Given the description of an element on the screen output the (x, y) to click on. 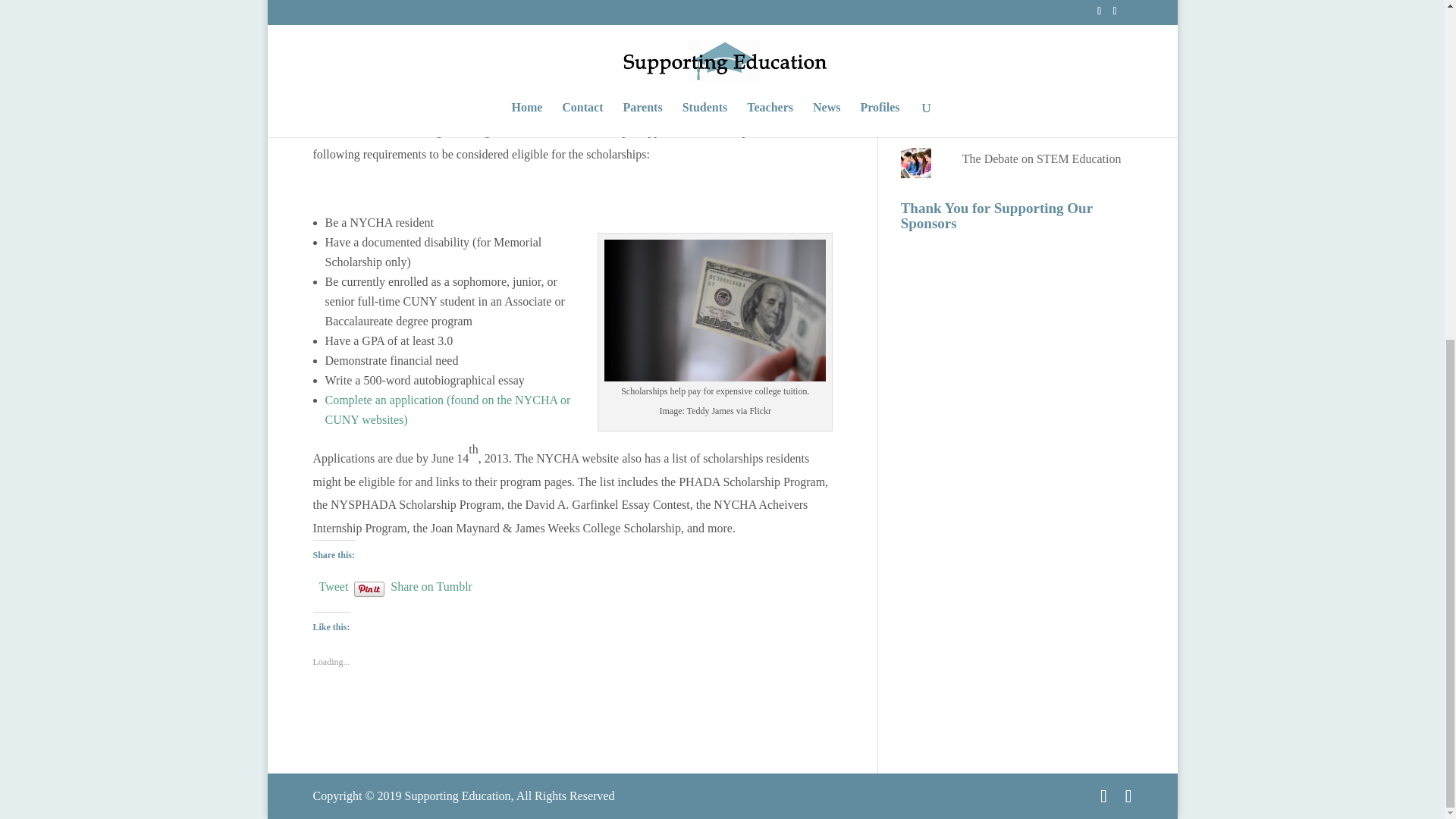
Corporal Punishment Still Up for Debate (1043, 15)
Corporal Punishment Still Up for Debate (1043, 15)
Using Plants Vs. Zombies 2 in the Classroom (1045, 65)
Share on Tumblr (430, 583)
Fun Science Experiments to Do With Your Kids (1039, 117)
Fun Science Experiments to Do With Your Kids (1039, 117)
The Debate on STEM Education (1041, 158)
Tweet (332, 583)
Using Plants Vs. Zombies 2 in the Classroom (1045, 65)
The Debate on STEM Education (1041, 158)
Share on Tumblr (430, 583)
